Given the description of an element on the screen output the (x, y) to click on. 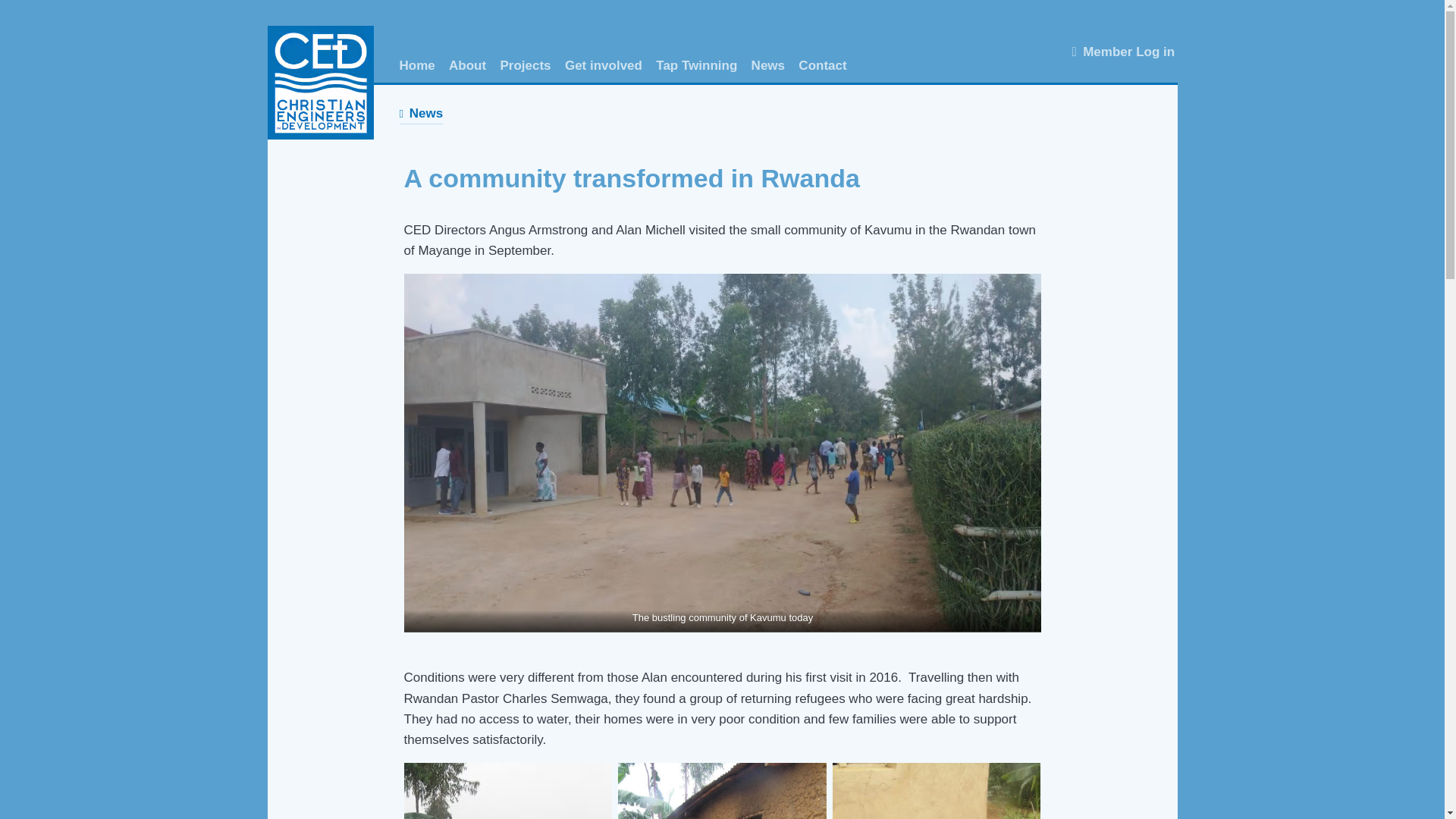
Tap Twinning (696, 65)
News (420, 113)
Member Log in (1122, 51)
Projects (524, 65)
News (767, 65)
Log in to the members area (1122, 51)
About (467, 65)
Contact (821, 65)
Home (415, 65)
Go to the News page (420, 113)
Get involved (603, 65)
